Given the description of an element on the screen output the (x, y) to click on. 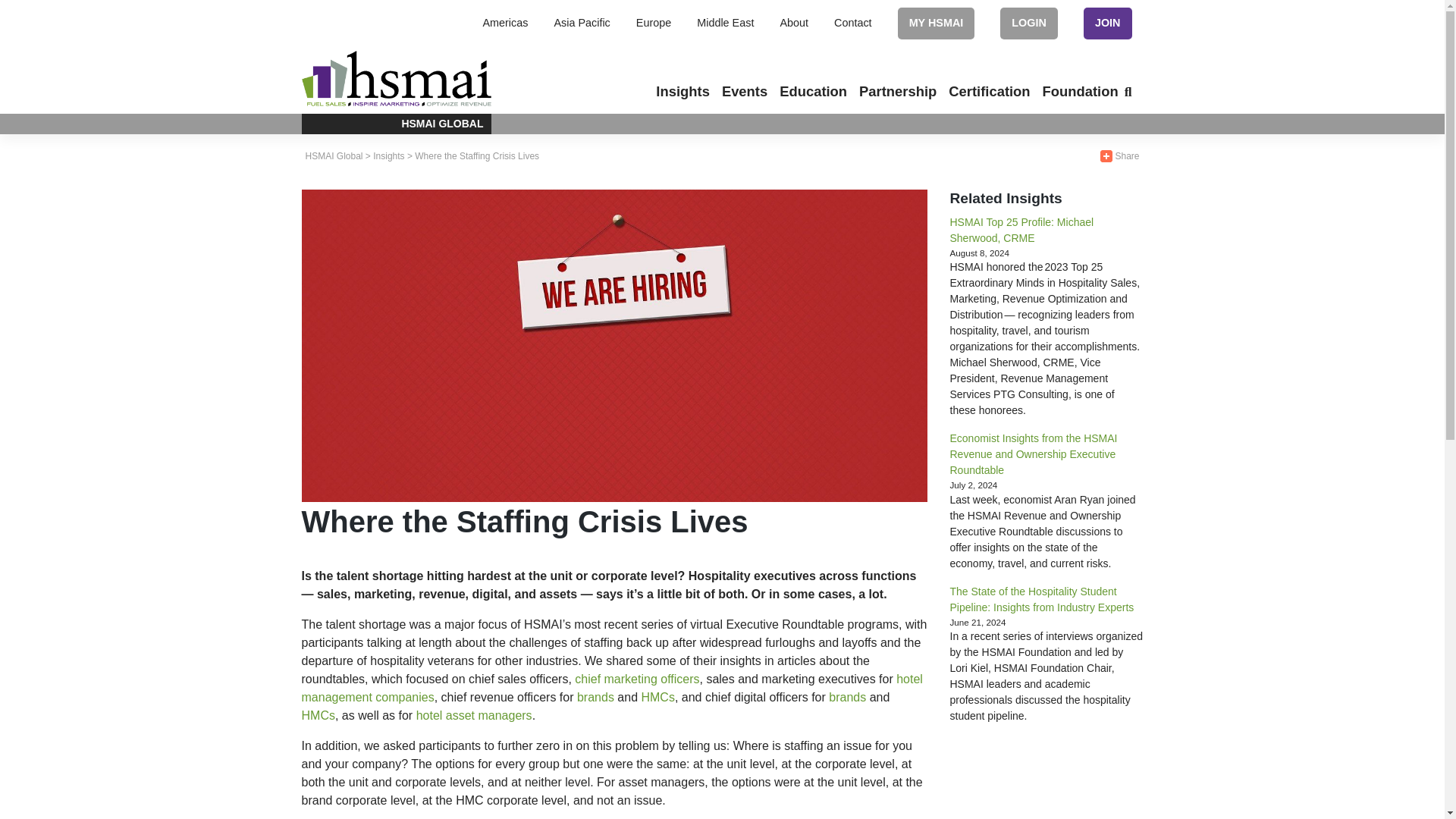
Insights (682, 90)
Education (813, 90)
Partnership (897, 90)
Events (744, 90)
LOGIN (1028, 22)
Asia Pacific (581, 22)
Certification (988, 90)
Contact (853, 22)
Education (813, 90)
Foundation (1080, 90)
